Given the description of an element on the screen output the (x, y) to click on. 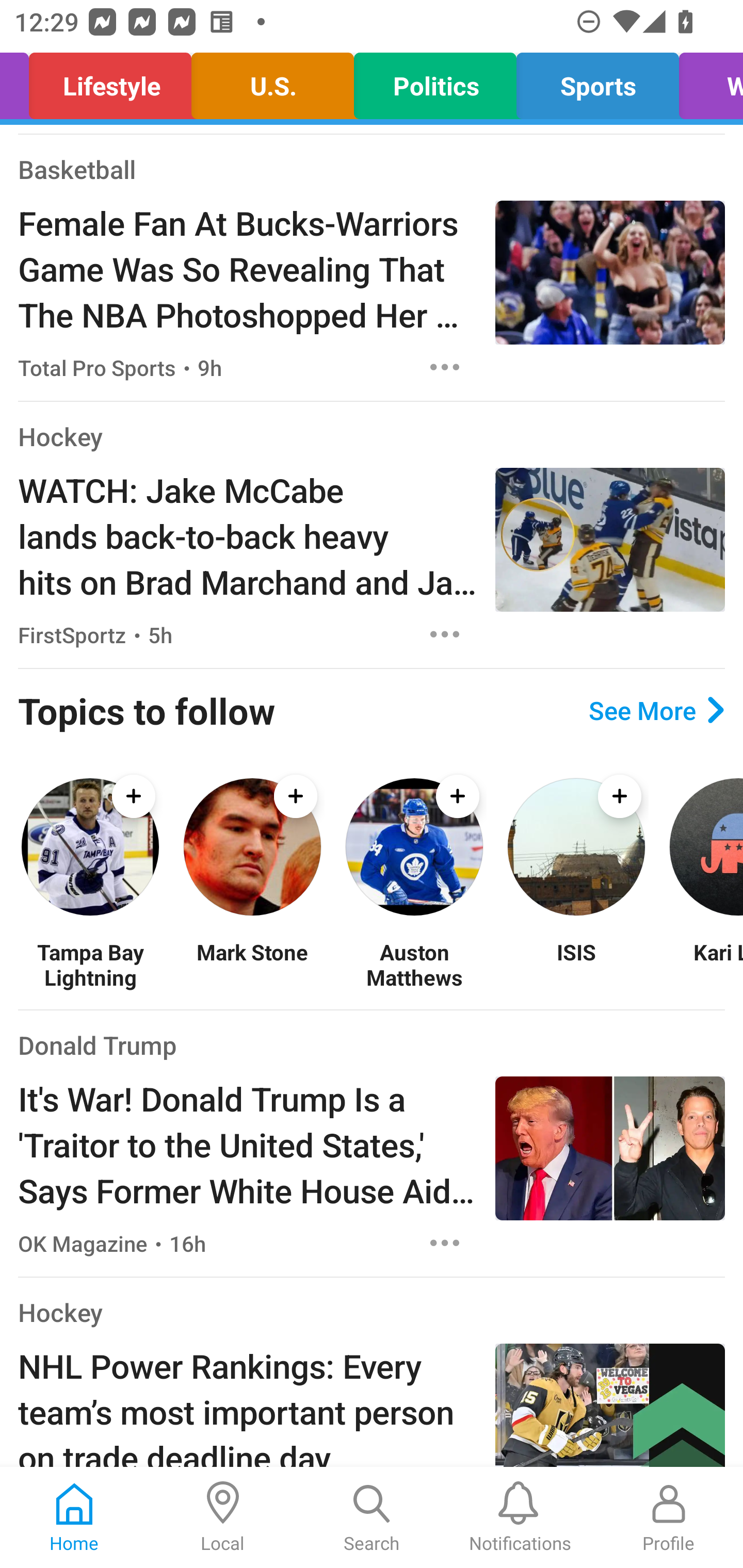
Lifestyle (109, 81)
U.S. (272, 81)
Politics (435, 81)
Sports (597, 81)
Basketball (76, 169)
Options (444, 366)
Hockey (60, 435)
Options (444, 634)
See More (656, 710)
Tampa Bay Lightning (89, 964)
Mark Stone (251, 964)
Auston Matthews (413, 964)
ISIS (575, 964)
Donald Trump (97, 1044)
Options (444, 1243)
Hockey (60, 1312)
Local (222, 1517)
Search (371, 1517)
Notifications (519, 1517)
Profile (668, 1517)
